Given the description of an element on the screen output the (x, y) to click on. 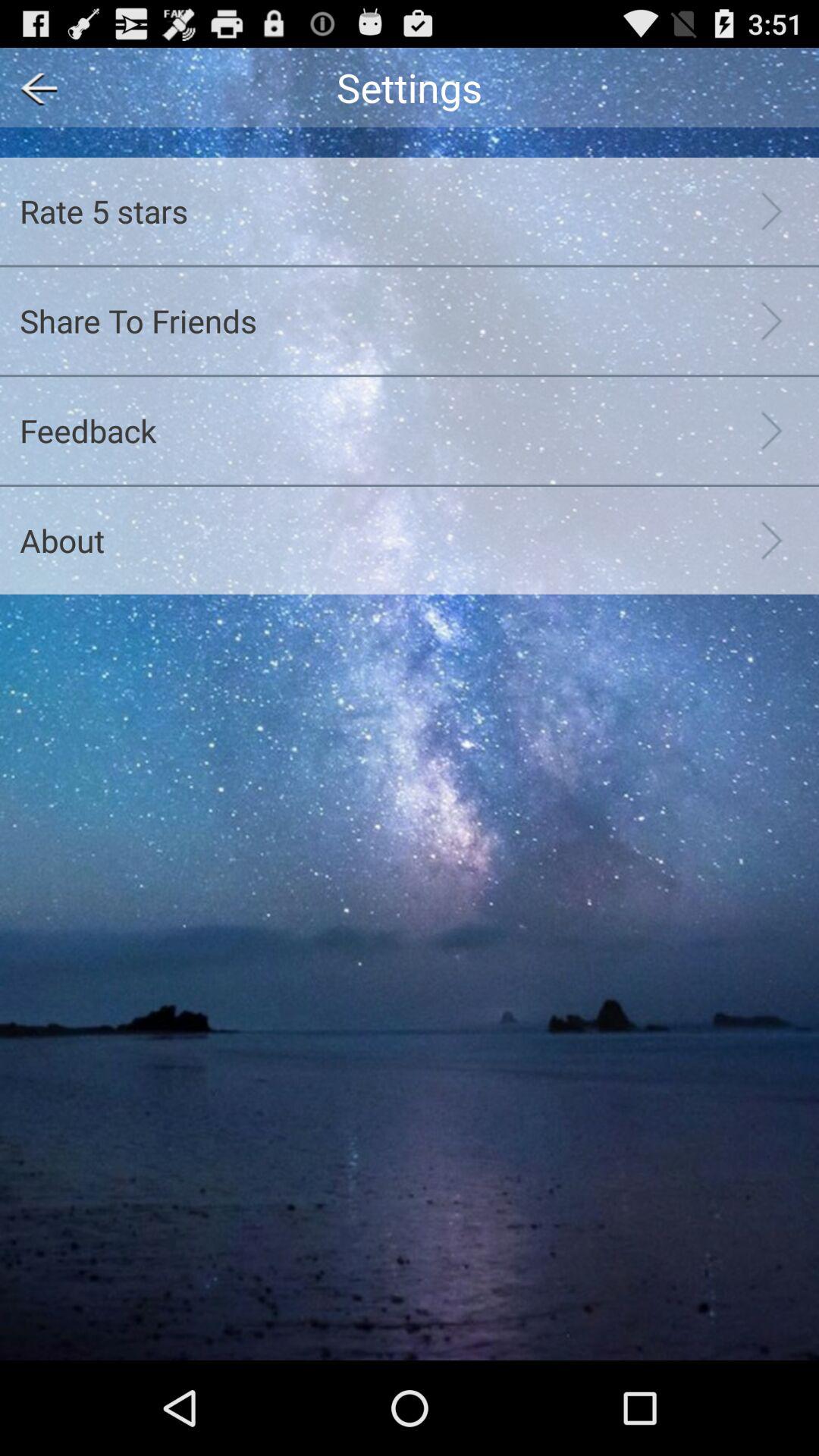
turn off app above rate 5 stars (33, 87)
